Given the description of an element on the screen output the (x, y) to click on. 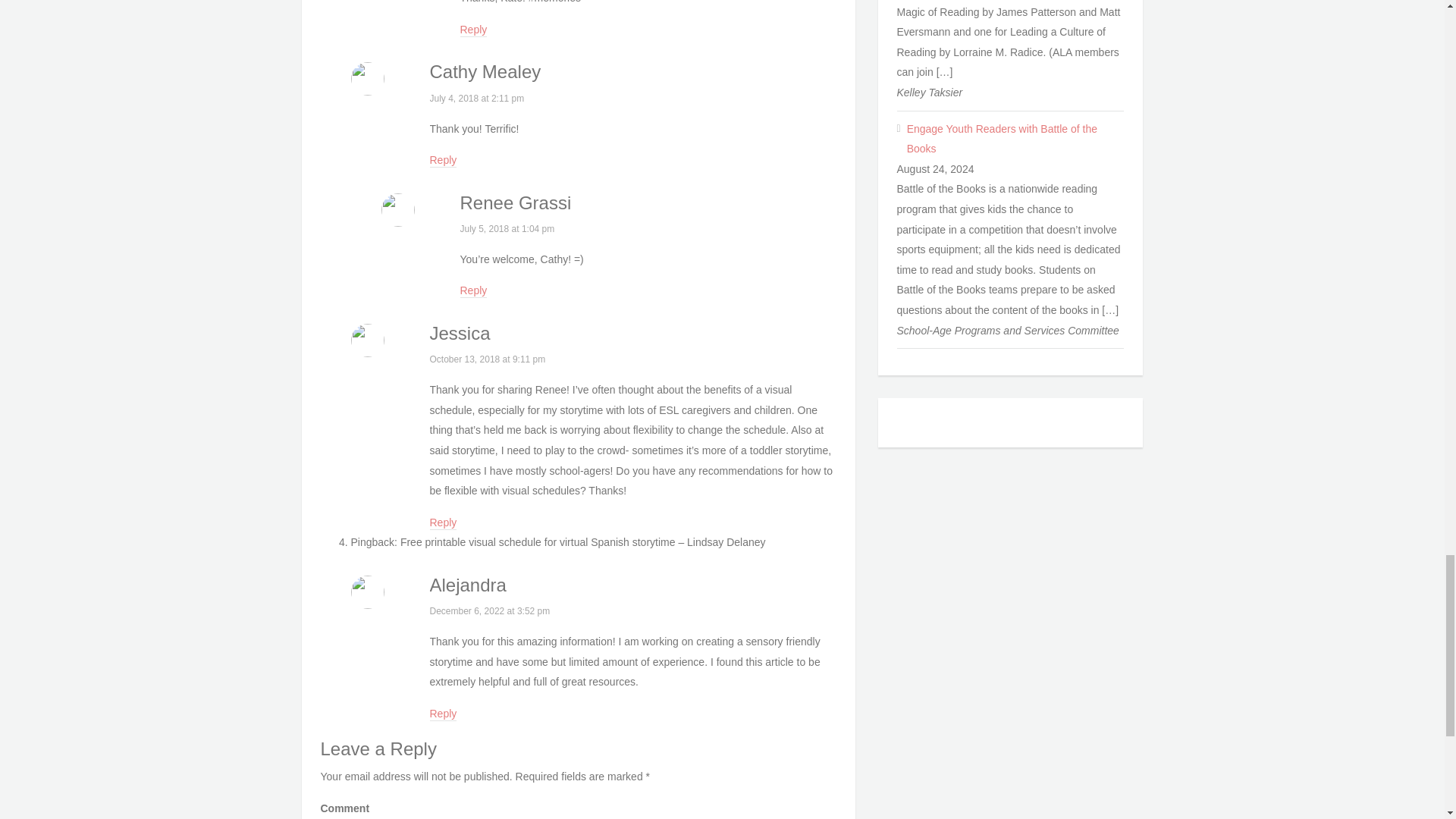
October 13, 2018 at 9:11 pm (486, 358)
Reply (443, 160)
Reply (473, 291)
July 5, 2018 at 1:04 pm (507, 228)
Reply (473, 29)
July 4, 2018 at 2:11 pm (476, 98)
Reply (443, 522)
